Given the description of an element on the screen output the (x, y) to click on. 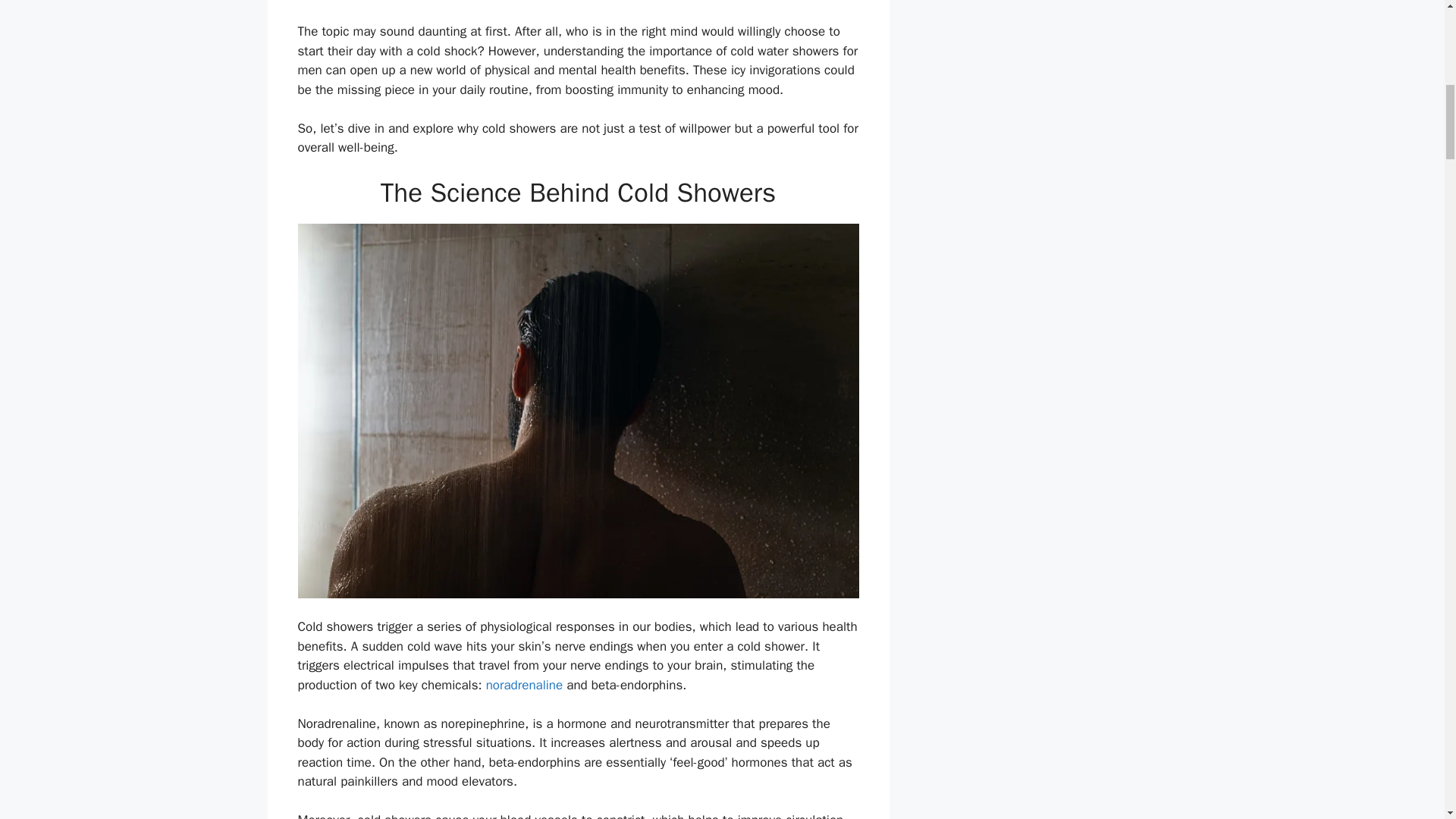
noradrenaline (524, 684)
